Given the description of an element on the screen output the (x, y) to click on. 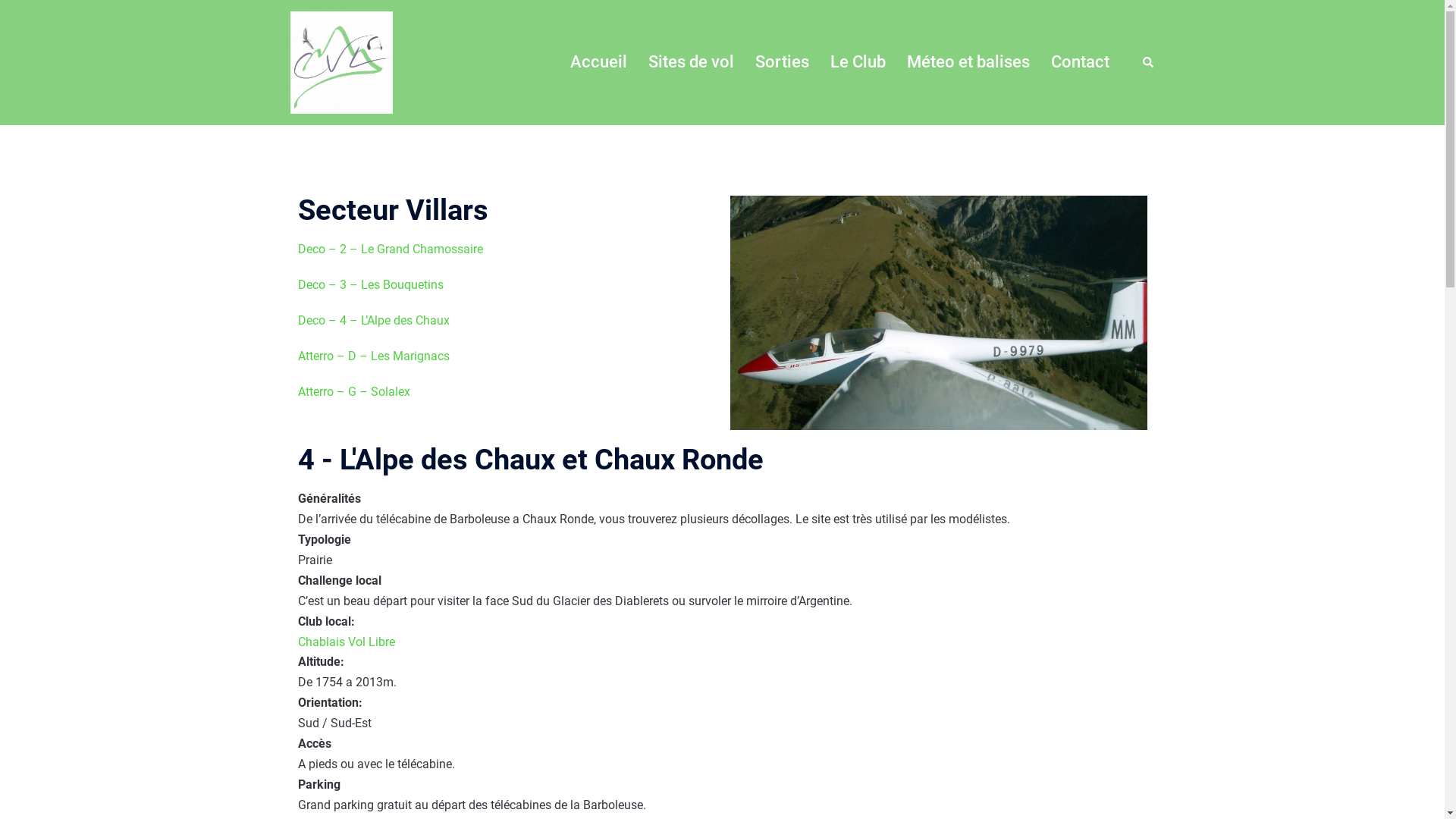
Sites de vol Element type: text (690, 62)
Contact Element type: text (1080, 62)
Accueil Element type: text (598, 62)
Chablais Vol Libre Element type: text (345, 640)
Sorties Element type: text (782, 62)
Chablais Vol Libre Element type: hover (340, 60)
Le Club Element type: text (856, 62)
